Given the description of an element on the screen output the (x, y) to click on. 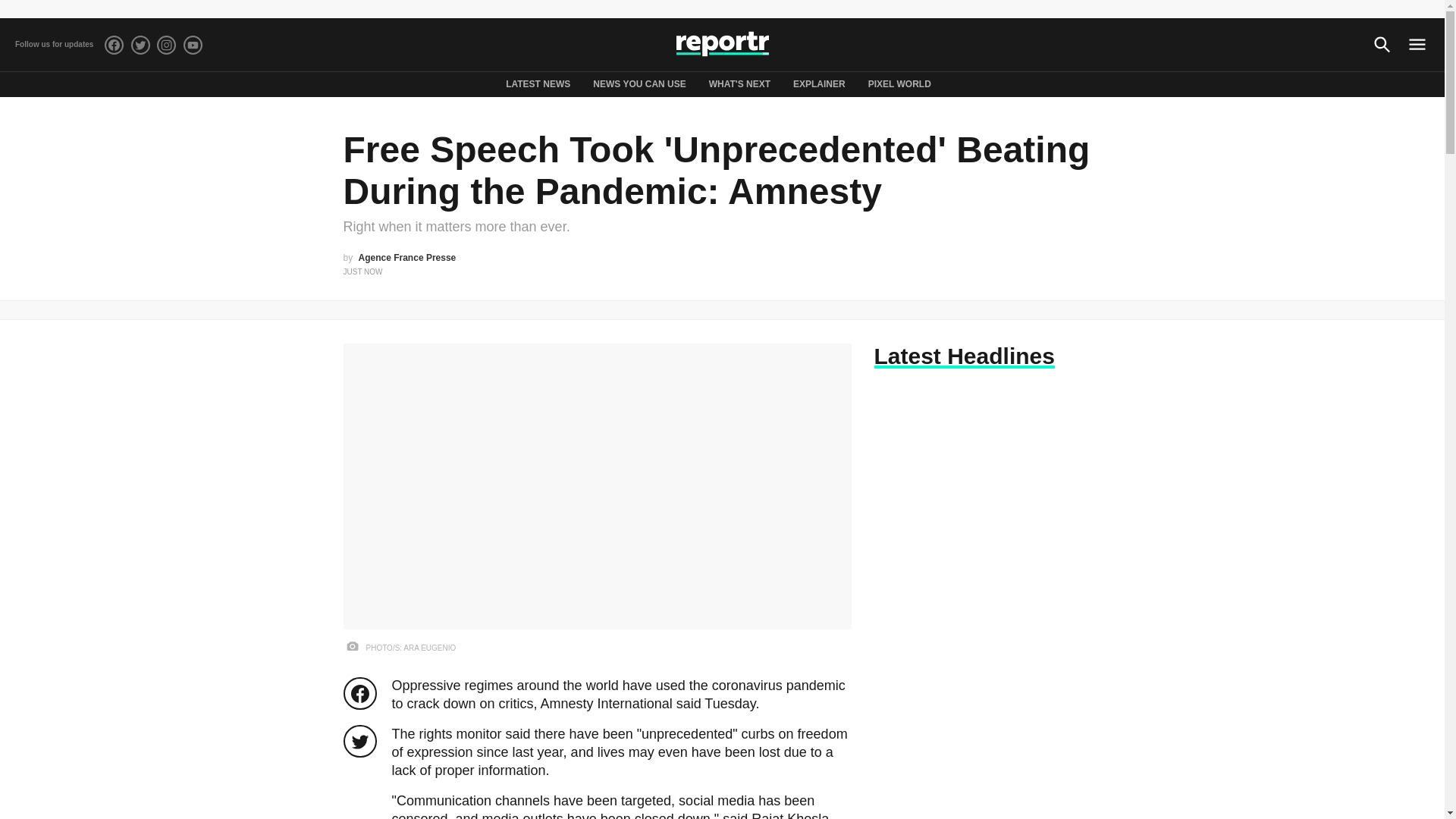
Follow us on Facebook (113, 44)
What's Next (739, 83)
LATEST NEWS (537, 83)
Explainer (819, 83)
News you can use (638, 83)
Pixel World (899, 83)
PIXEL WORLD (899, 83)
Subscribe on Youtube (192, 44)
Latest News (537, 83)
WHAT'S NEXT (739, 83)
Follow us on Twitter (140, 44)
NEWS YOU CAN USE (638, 83)
EXPLAINER (819, 83)
Reportr (722, 44)
Agence France Presse (407, 257)
